Given the description of an element on the screen output the (x, y) to click on. 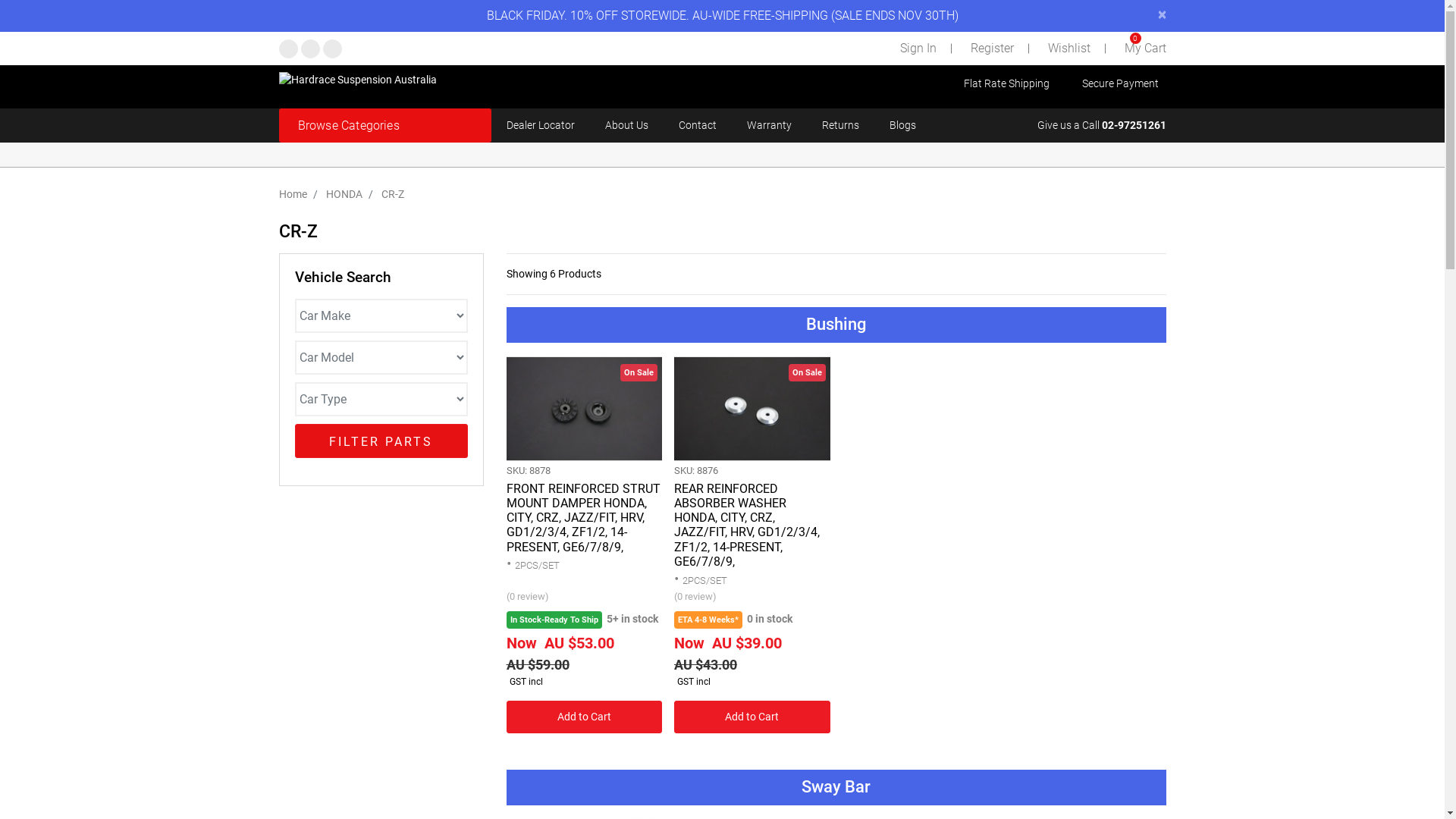
Wishlist Element type: text (1066, 47)
02-97251261 Element type: text (1133, 125)
Youtube Element type: text (332, 48)
CR-Z Element type: text (391, 194)
Skip to main content Element type: text (0, 0)
Facebook Element type: text (288, 48)
Home Element type: text (293, 194)
Dealer Locator Element type: text (540, 125)
Flat Rate Shipping Element type: text (1006, 83)
Instagram Element type: text (309, 48)
Sign In Element type: text (916, 47)
Warranty Element type: text (768, 125)
HONDA Element type: text (344, 194)
Hardrace Suspension Australia Element type: hover (357, 78)
Contact Element type: text (696, 125)
Returns Element type: text (840, 125)
About Us Element type: text (626, 125)
Register Element type: text (989, 47)
Browse Categories Element type: text (385, 125)
Vehicle Search Element type: text (342, 277)
Add to Cart Element type: text (752, 716)
Add to Cart Element type: text (584, 716)
Secure Payment Element type: text (1120, 83)
My Cart
0 Element type: text (1143, 47)
FILTER PARTS Element type: text (380, 440)
Blogs Element type: text (901, 125)
